Given the description of an element on the screen output the (x, y) to click on. 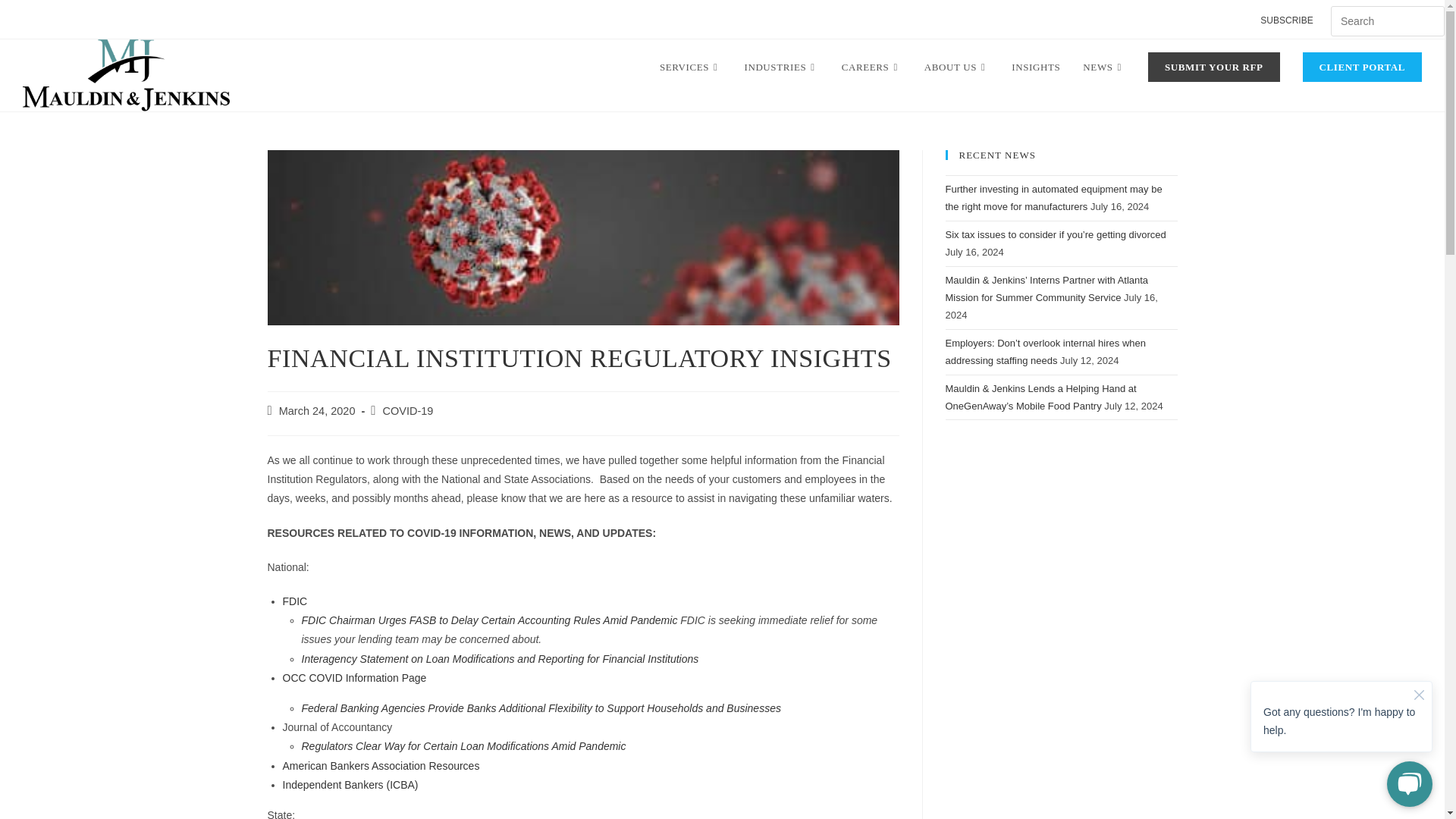
SUBSCRIBE (1286, 21)
SERVICES (690, 67)
